Given the description of an element on the screen output the (x, y) to click on. 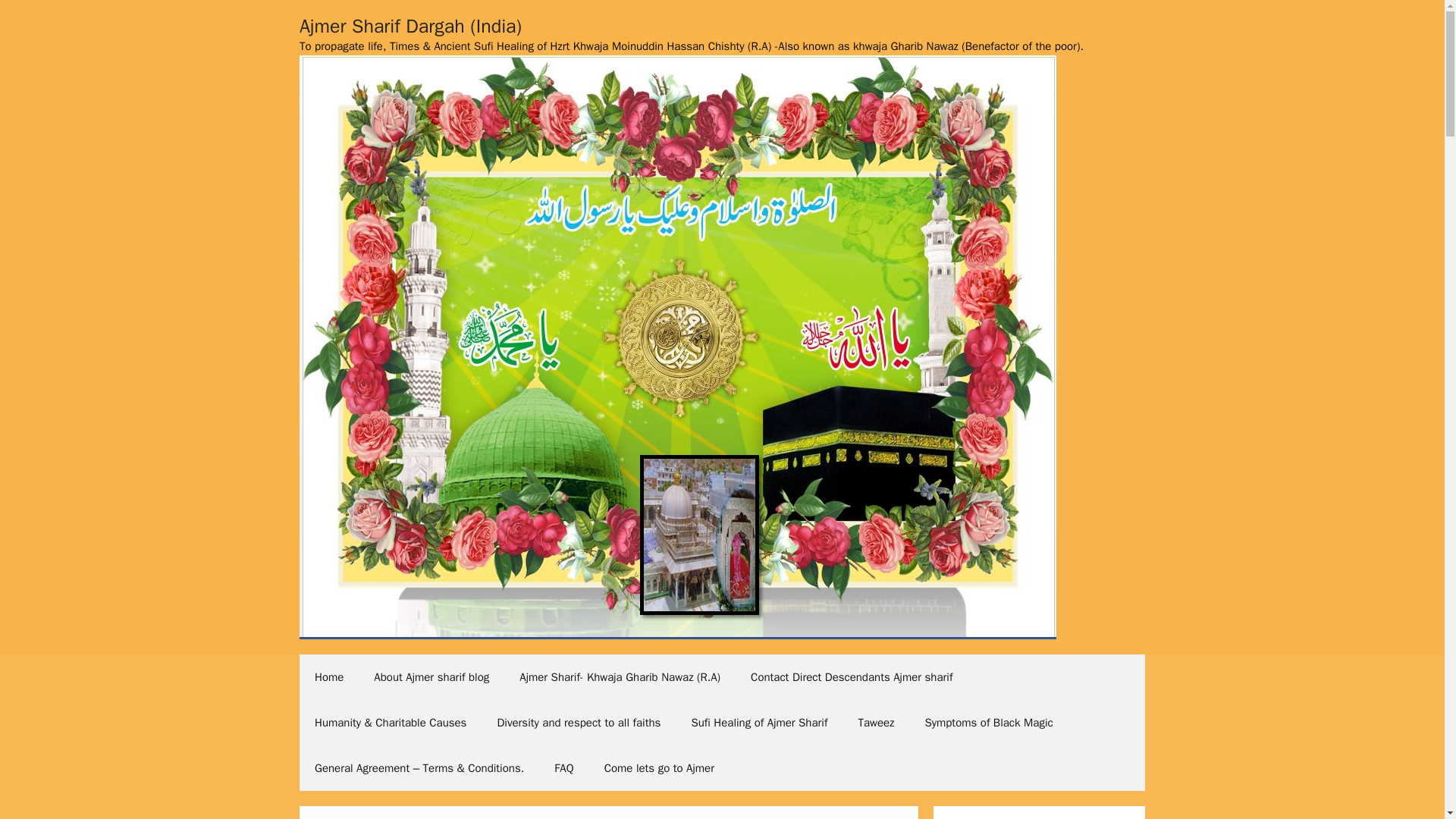
FAQ (563, 767)
Sufi Healing of Ajmer Sharif (759, 721)
Taweez (875, 721)
Come lets go to Ajmer (659, 767)
About Ajmer sharif blog (430, 676)
Diversity and respect to all faiths (578, 721)
Search (35, 18)
Home (328, 676)
Symptoms of Black Magic (987, 721)
Contact Direct Descendants Ajmer sharif (851, 676)
